Given the description of an element on the screen output the (x, y) to click on. 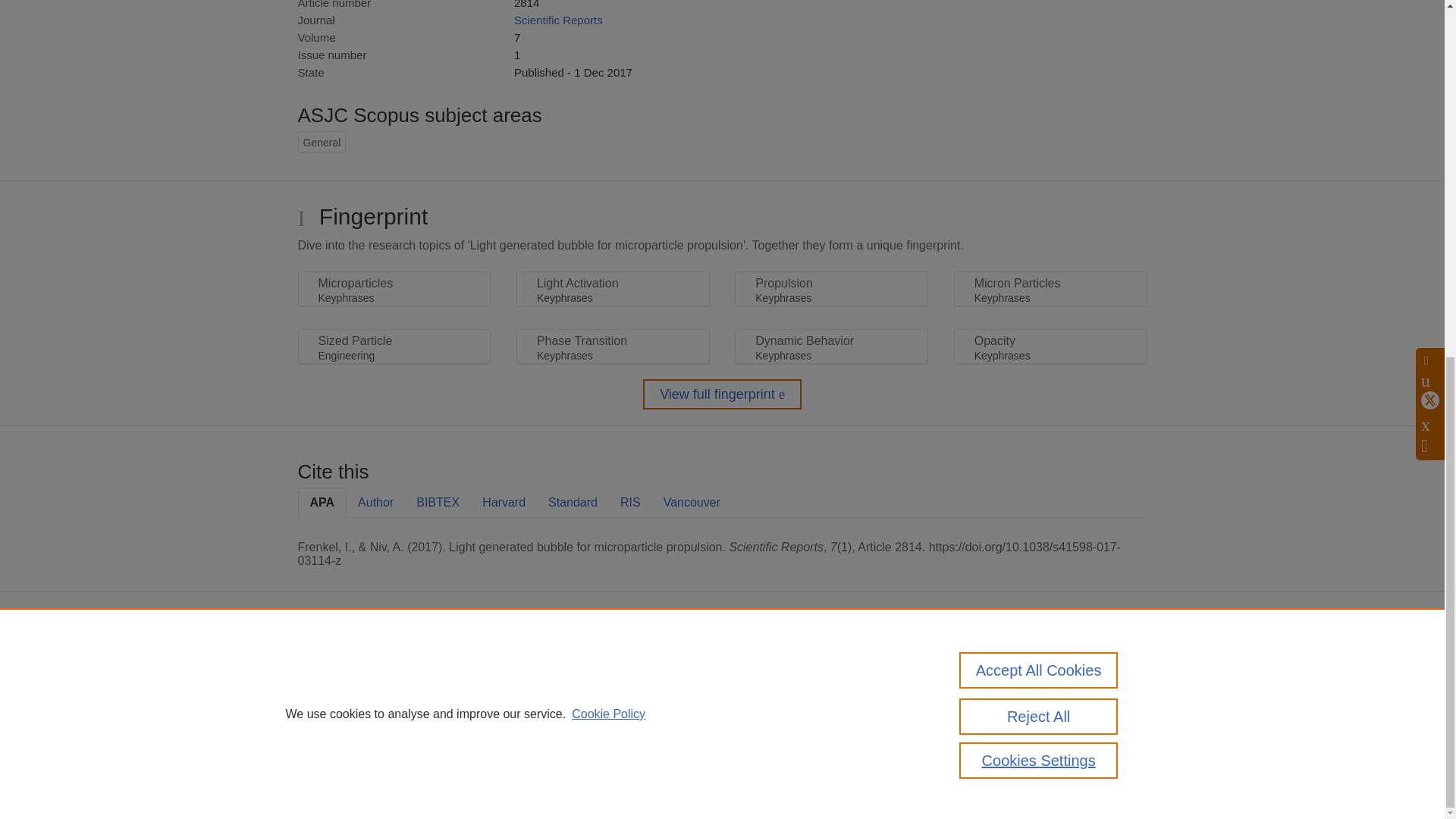
Scopus (394, 666)
Scientific Reports (557, 19)
View full fingerprint (722, 394)
Pure (362, 666)
